Given the description of an element on the screen output the (x, y) to click on. 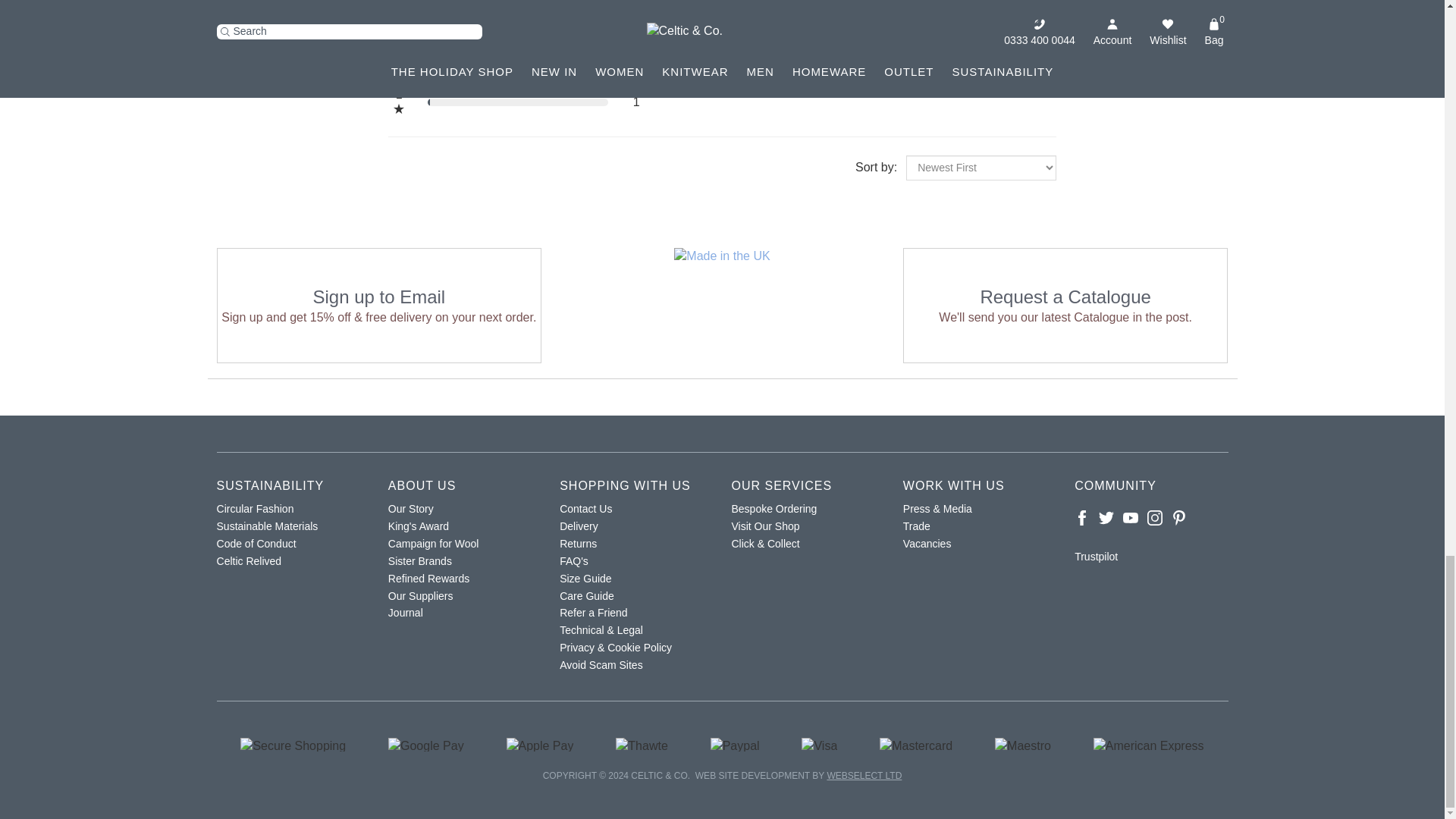
YouTube (1130, 517)
Twitter (1106, 517)
Pinterest (1179, 517)
Instagram (1154, 517)
Facebook (1081, 517)
